Given the description of an element on the screen output the (x, y) to click on. 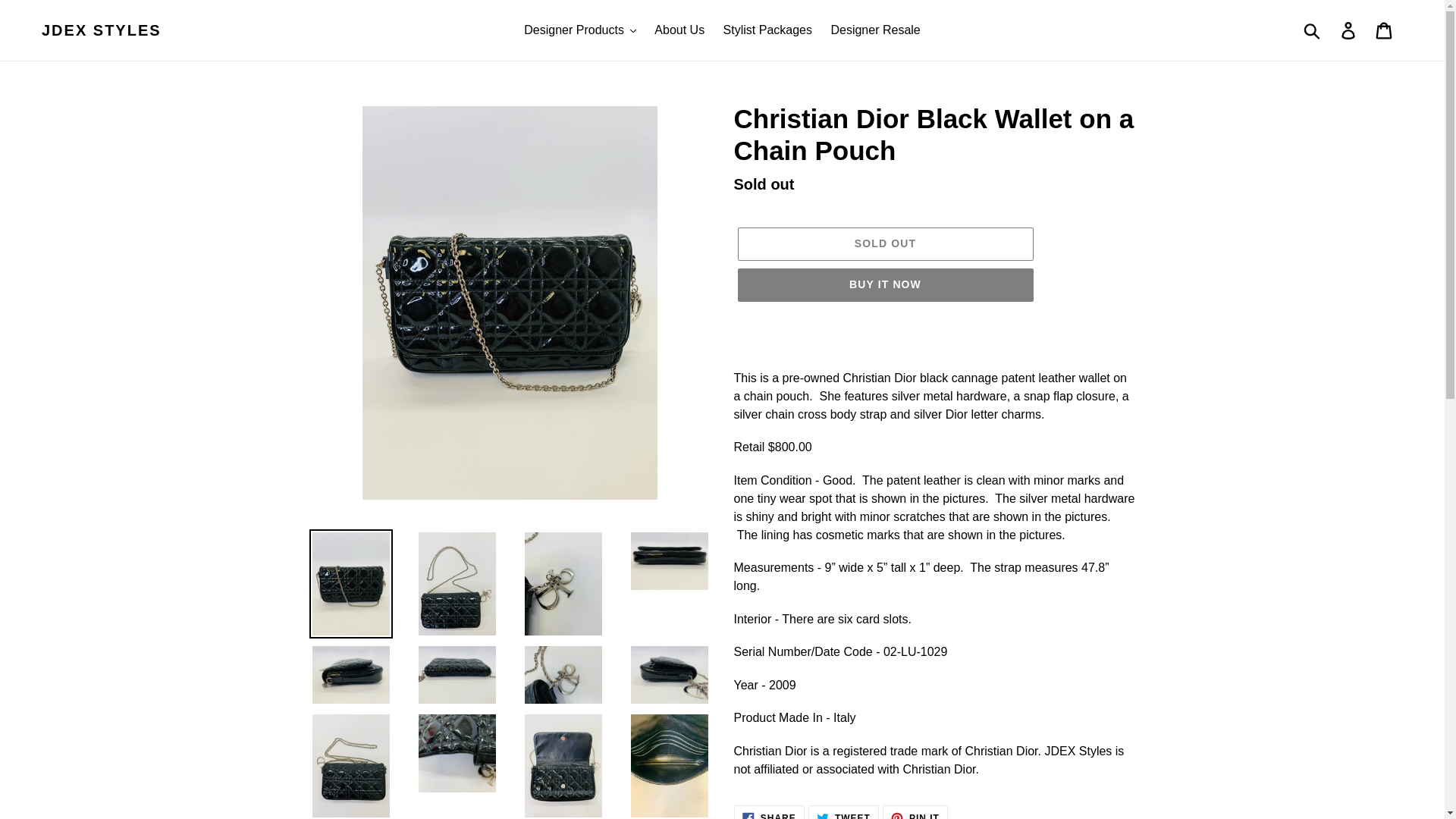
Submit (1313, 29)
Designer Resale (874, 29)
About Us (678, 29)
JDEX STYLES (101, 30)
Log in (1349, 29)
Stylist Packages (767, 29)
Cart (1385, 29)
